Given the description of an element on the screen output the (x, y) to click on. 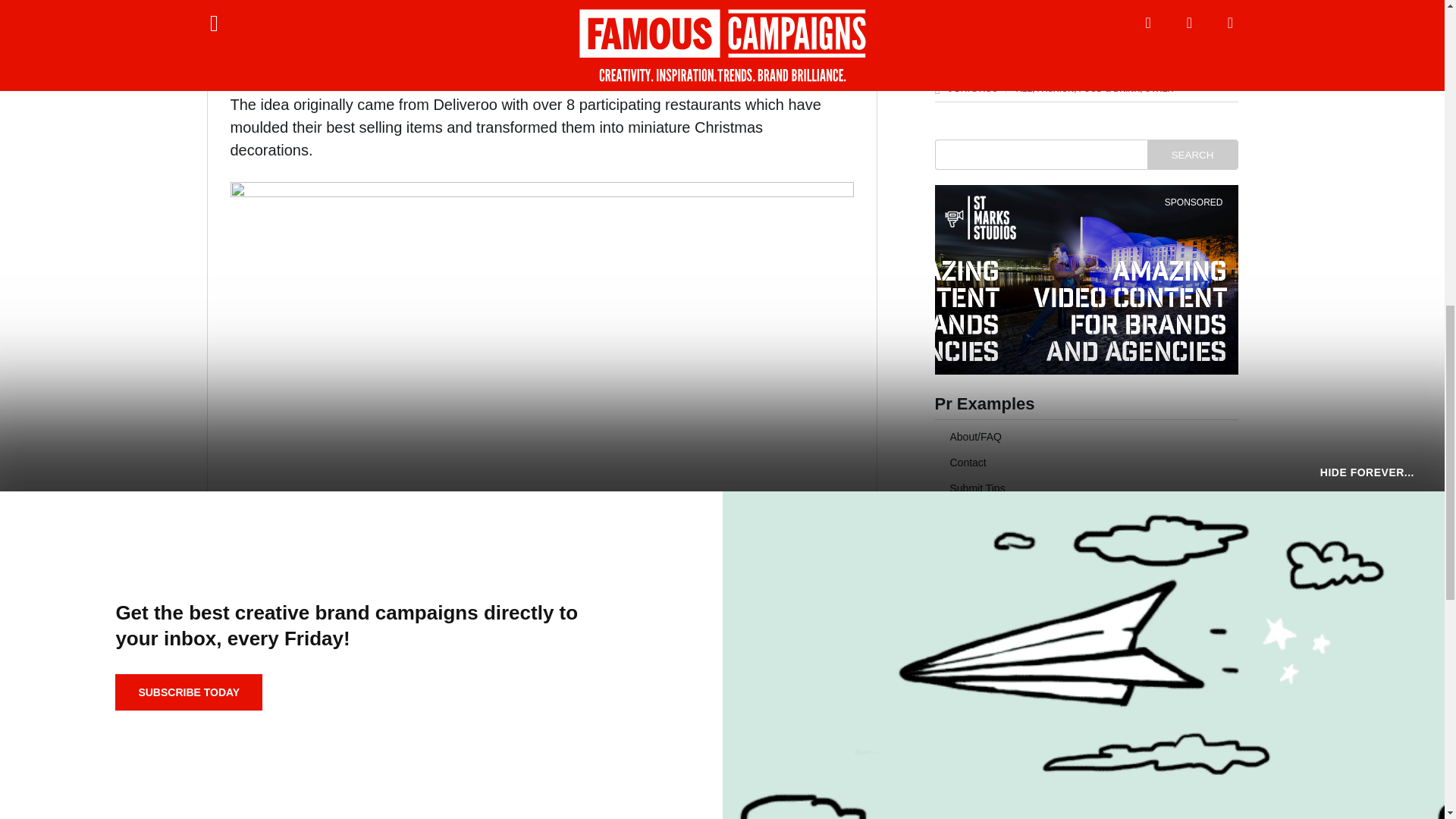
CHRISTMAS (441, 746)
ALL (388, 746)
Supermarket launches the cutest Lidl croissant bag (1055, 53)
Search (1192, 154)
ENTERTAINMENT (526, 746)
